Given the description of an element on the screen output the (x, y) to click on. 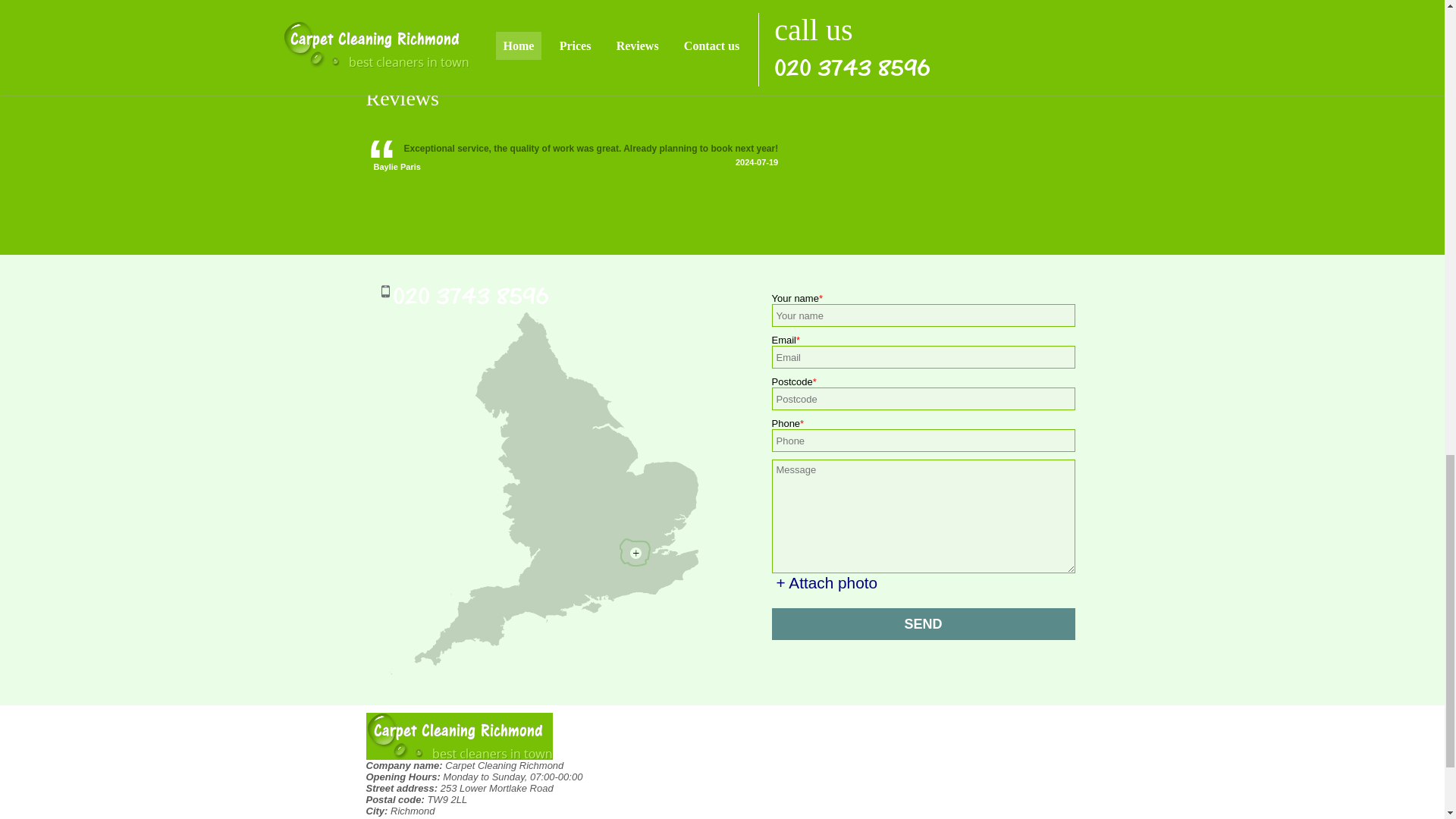
SEND (923, 623)
